Given the description of an element on the screen output the (x, y) to click on. 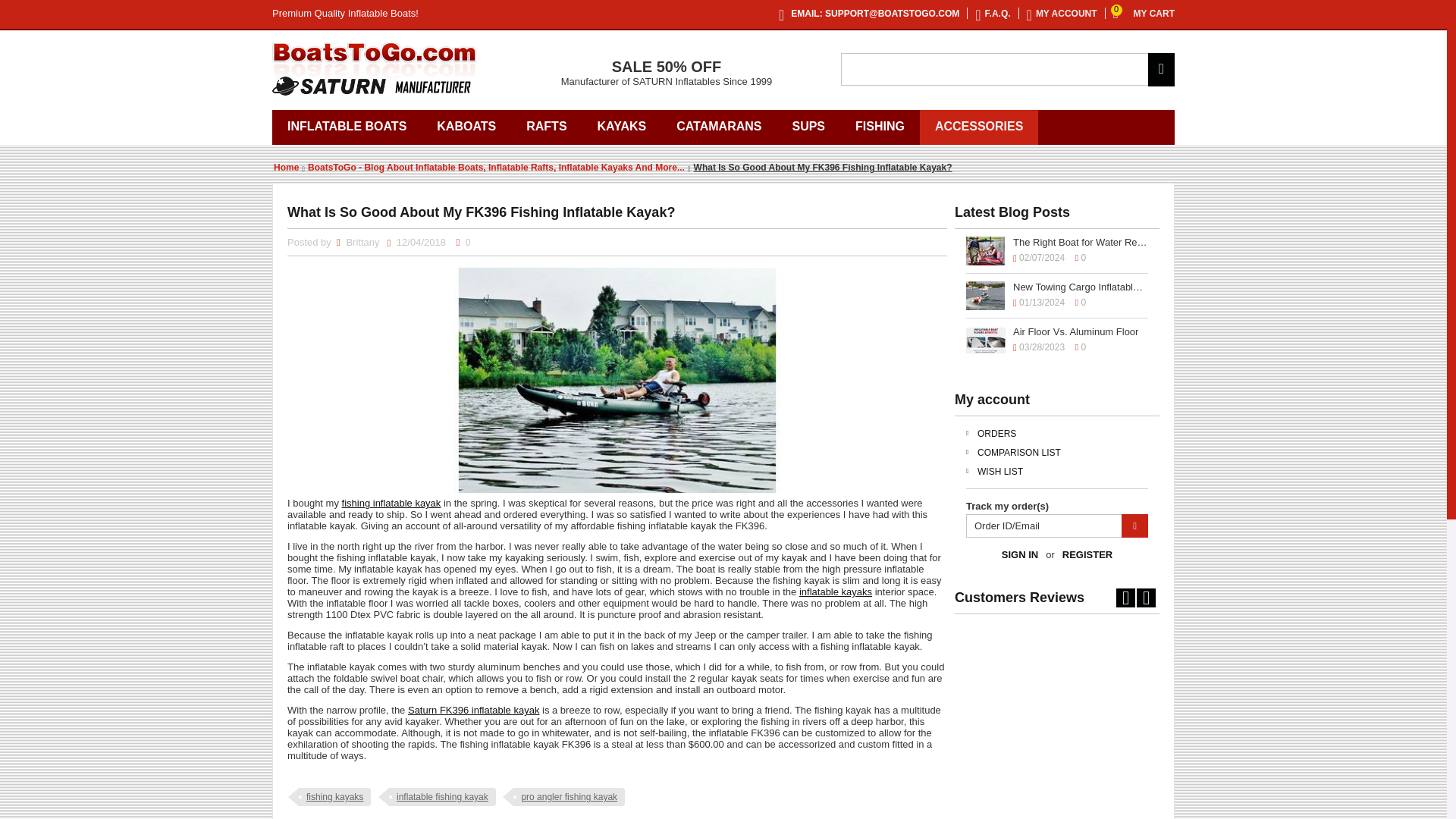
INFLATABLE BOATS (347, 126)
MY ACCOUNT (1063, 12)
Customers Reviews (1056, 602)
F.A.Q. (994, 12)
